Given the description of an element on the screen output the (x, y) to click on. 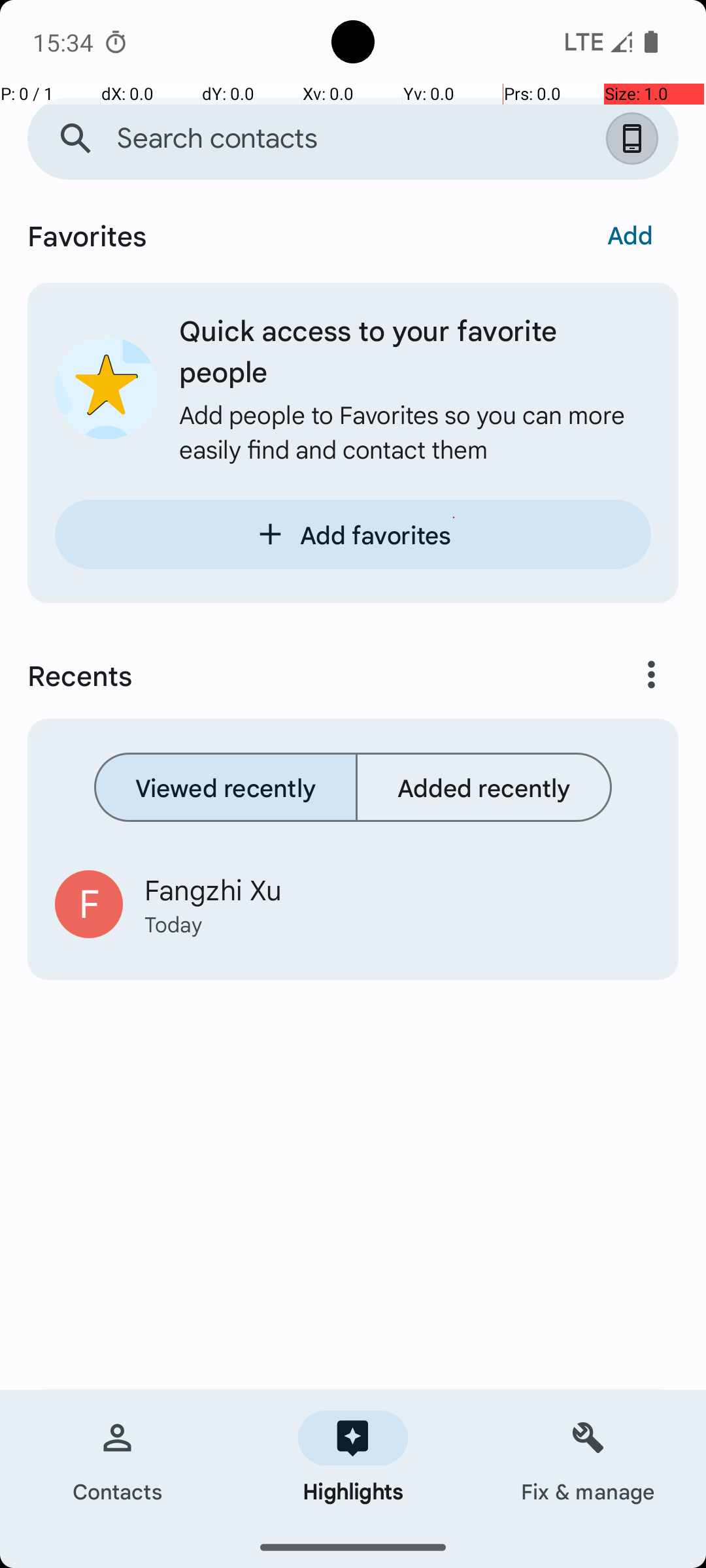
Quick access to your favorite people Element type: android.widget.TextView (415, 350)
Add people to Favorites so you can more easily find and contact them Element type: android.widget.TextView (415, 431)
Add favorites Element type: android.widget.Button (352, 534)
Recents Element type: android.widget.TextView (298, 674)
Viewed recently Element type: android.widget.CompoundButton (225, 787)
Added recently Element type: android.widget.CompoundButton (483, 787)
Fangzhi Xu Element type: android.widget.TextView (397, 888)
